Given the description of an element on the screen output the (x, y) to click on. 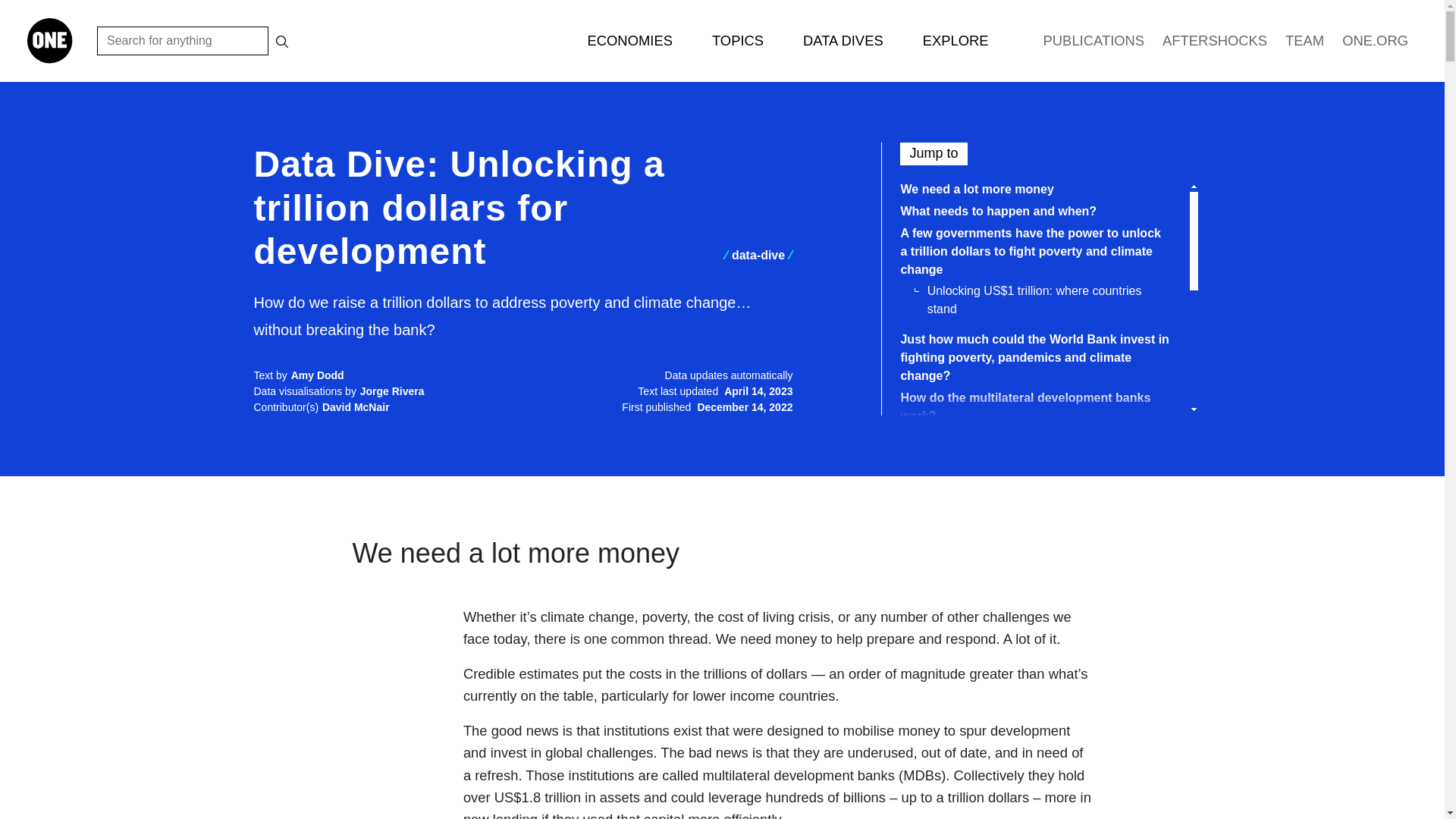
Topics (727, 40)
one.org (1374, 40)
TEAM (1304, 40)
AfterShocks (1214, 40)
Amy Dodd (317, 375)
AFTERSHOCKS (1214, 40)
Jorge Rivera (392, 390)
What needs to happen and when? (997, 210)
ONE.ORG (1374, 40)
Explore (944, 40)
